Given the description of an element on the screen output the (x, y) to click on. 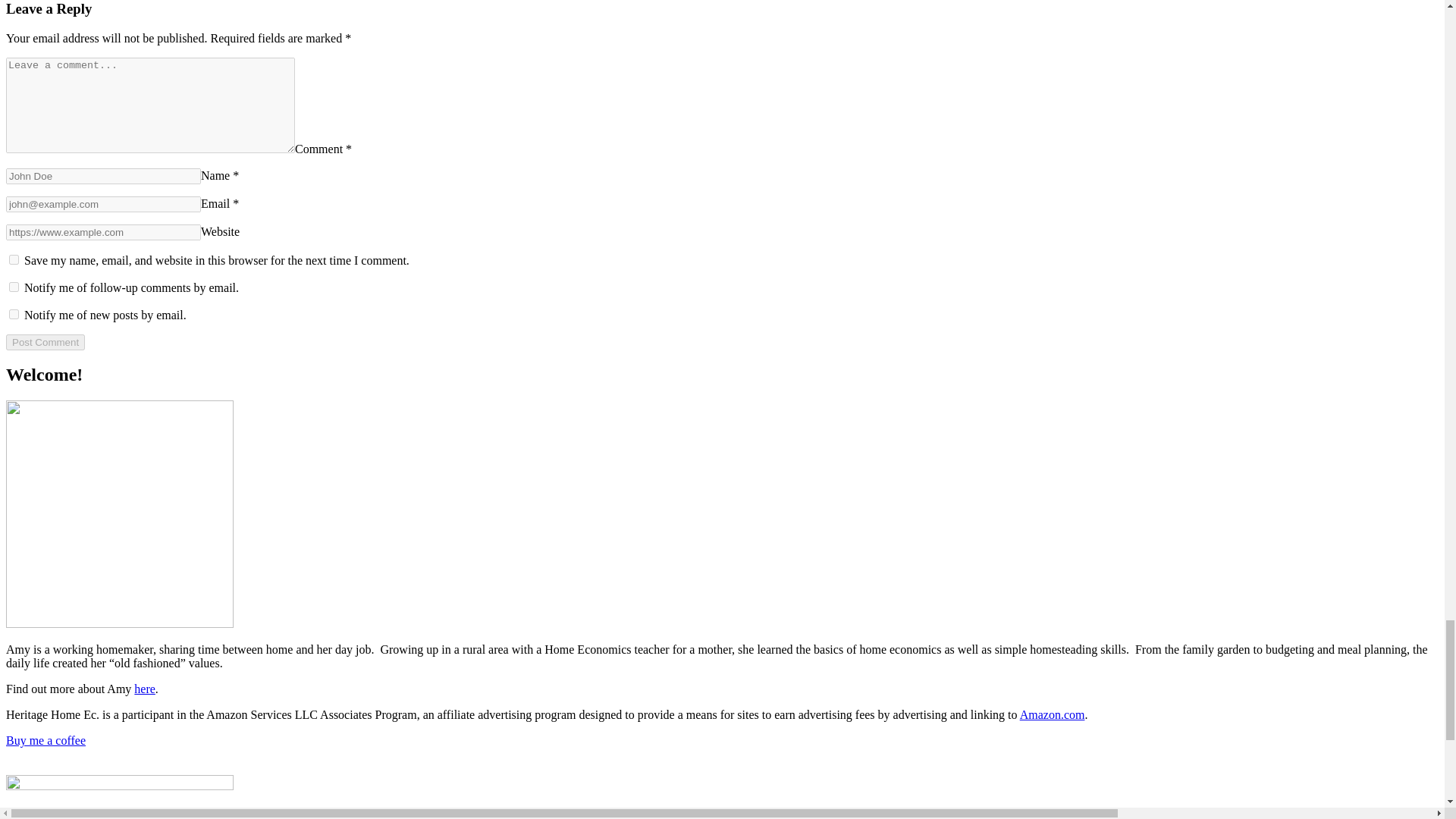
subscribe (13, 314)
subscribe (13, 286)
Post Comment (44, 342)
yes (13, 259)
